Given the description of an element on the screen output the (x, y) to click on. 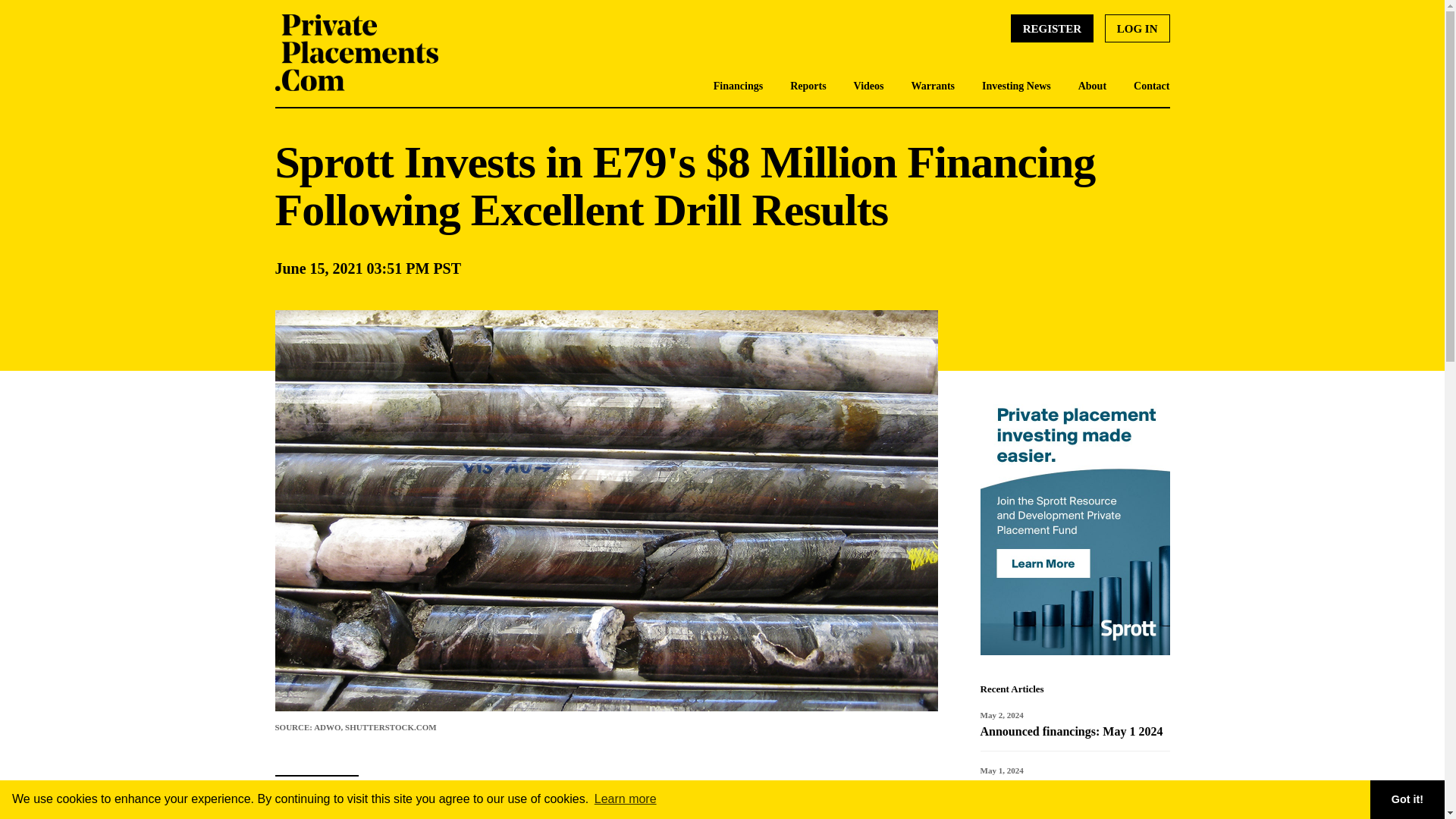
About (1092, 85)
CSE: ESNR (685, 785)
Learn more (625, 798)
Financings (737, 85)
Facebook (316, 816)
Warrants (933, 85)
LOG IN (1137, 28)
Contact (1151, 85)
Announced financings: April 30, 2024 (1063, 794)
Announced financings: May 1 2024 (1070, 730)
Reports (807, 85)
Investing News (1016, 85)
Videos (868, 85)
REGISTER (1052, 28)
announced (552, 808)
